Given the description of an element on the screen output the (x, y) to click on. 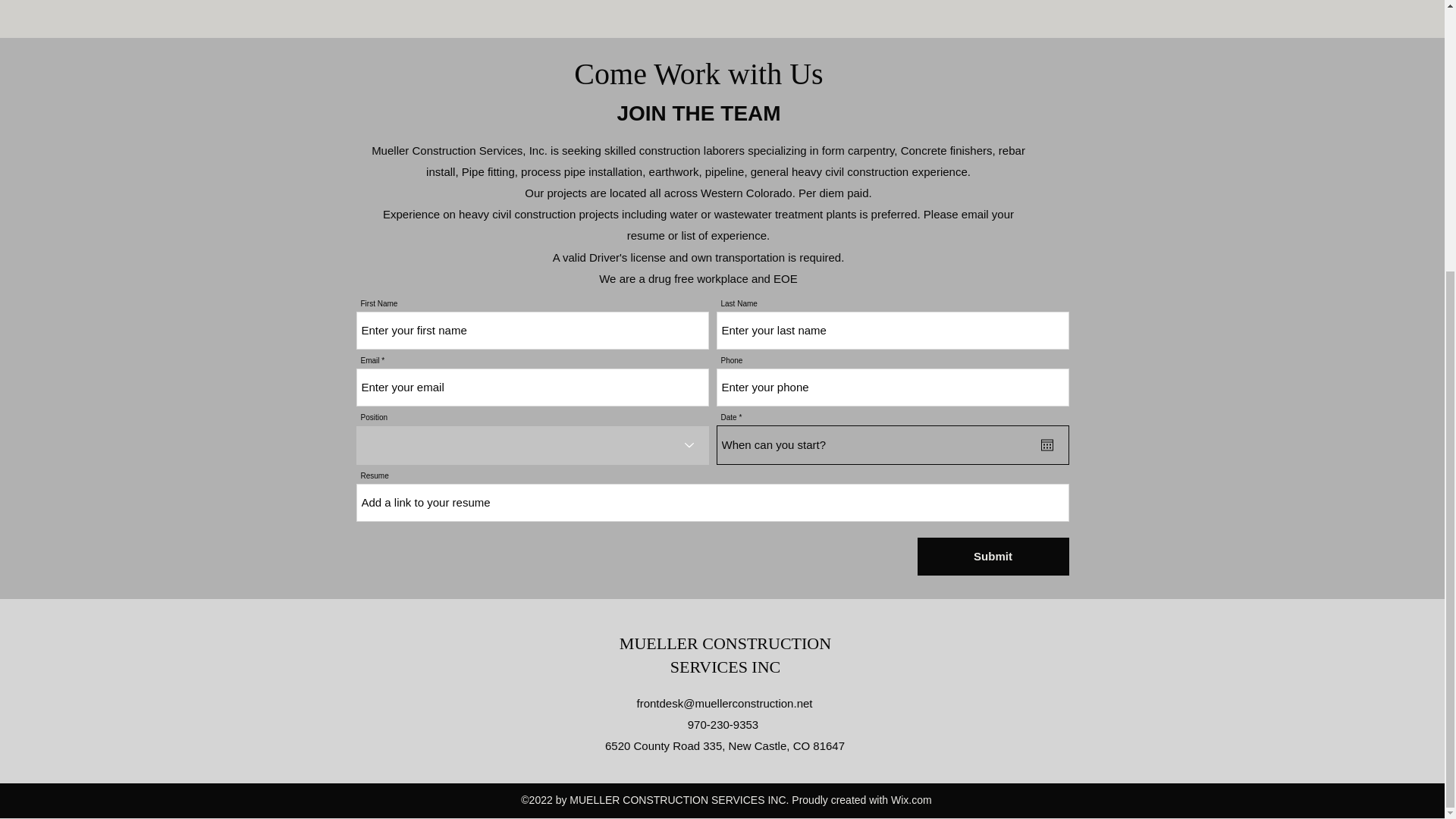
MUELLER CONSTRUCTION SERVICES INC (725, 654)
Facebook Like (972, 757)
Submit (992, 556)
